Given the description of an element on the screen output the (x, y) to click on. 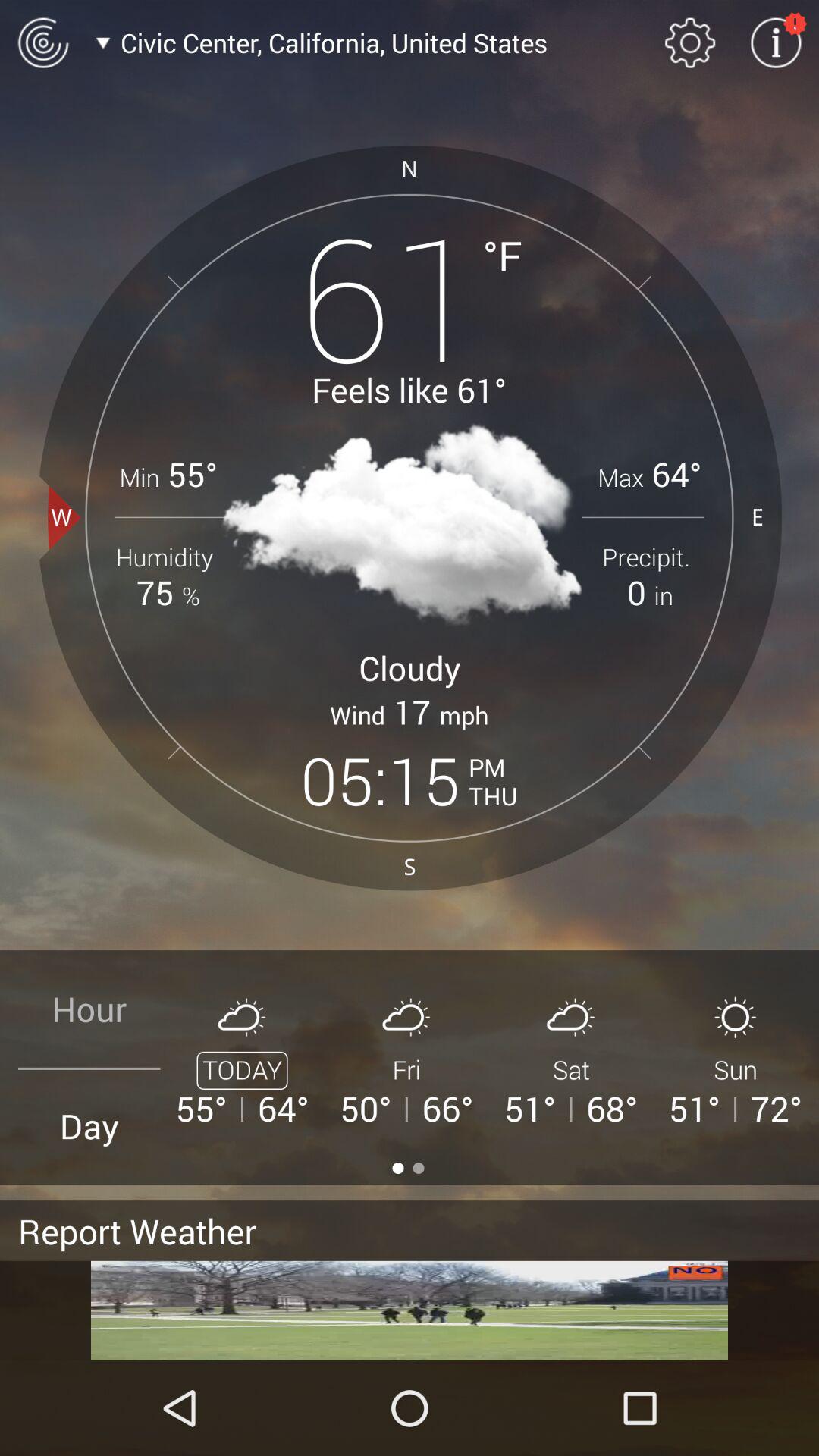
enter settings menu (690, 42)
